Given the description of an element on the screen output the (x, y) to click on. 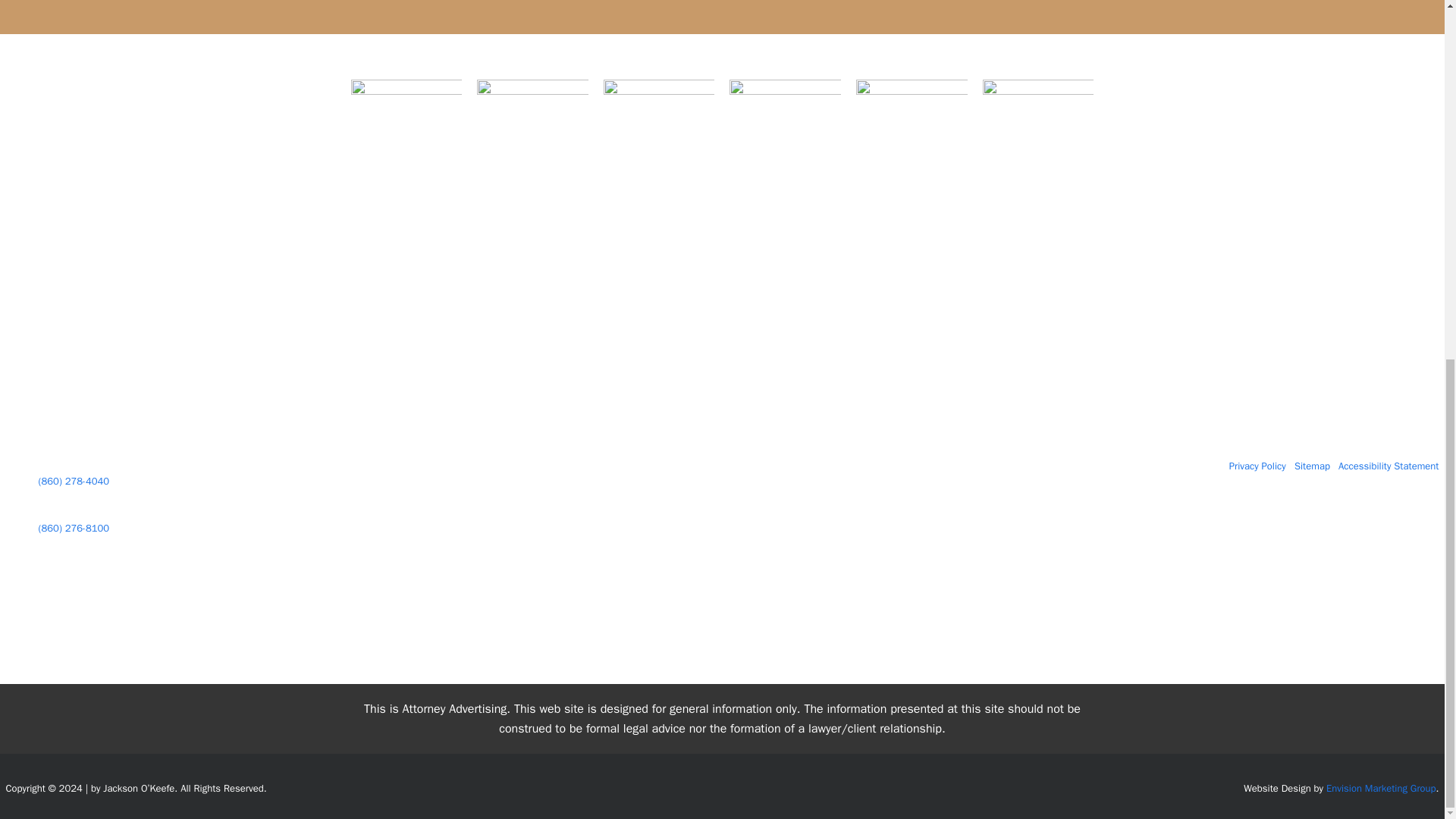
Twitter (742, 600)
LinkedIn (701, 600)
YouTube (784, 600)
Facebook (659, 600)
